Given the description of an element on the screen output the (x, y) to click on. 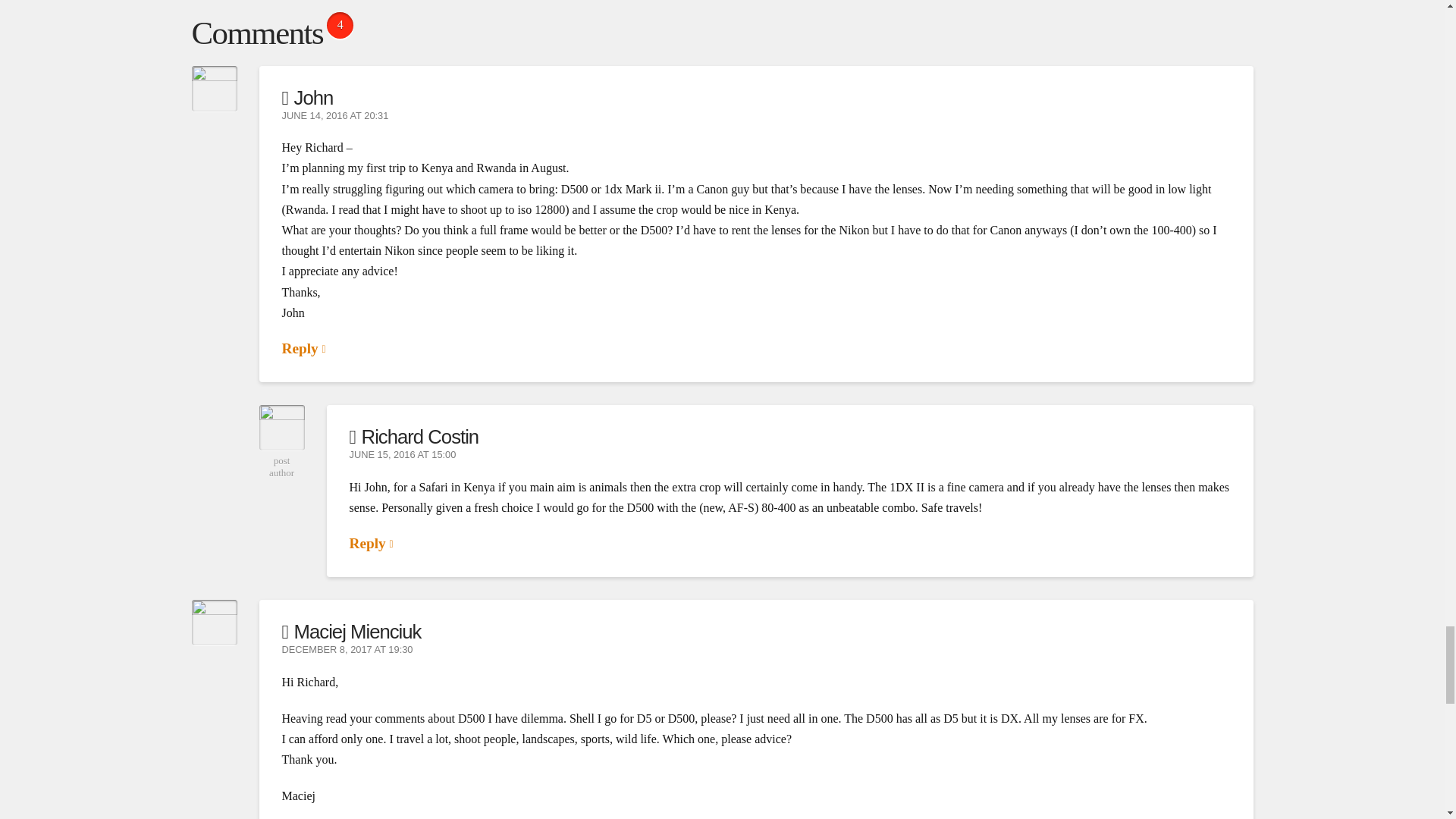
DECEMBER 8, 2017 AT 19:30 (347, 649)
Richard Costin (414, 436)
JUNE 14, 2016 AT 20:31 (335, 115)
Reply (304, 348)
Reply (371, 543)
JUNE 15, 2016 AT 15:00 (402, 454)
